Given the description of an element on the screen output the (x, y) to click on. 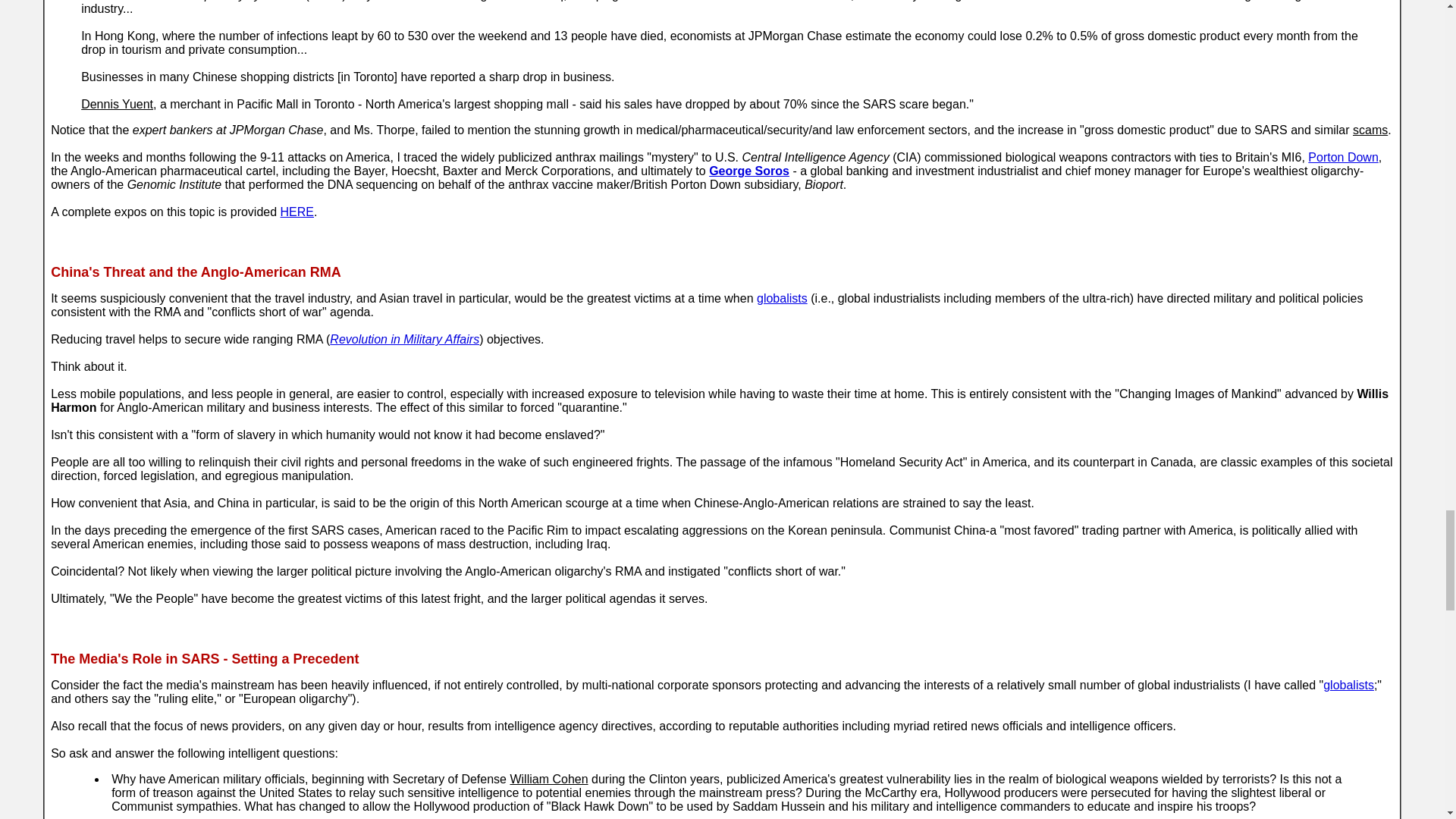
globalists (1348, 684)
globalists (782, 297)
Revolution in Military Affairs (404, 338)
HERE (297, 211)
George Soros (749, 170)
Porton Down (1342, 156)
